Given the description of an element on the screen output the (x, y) to click on. 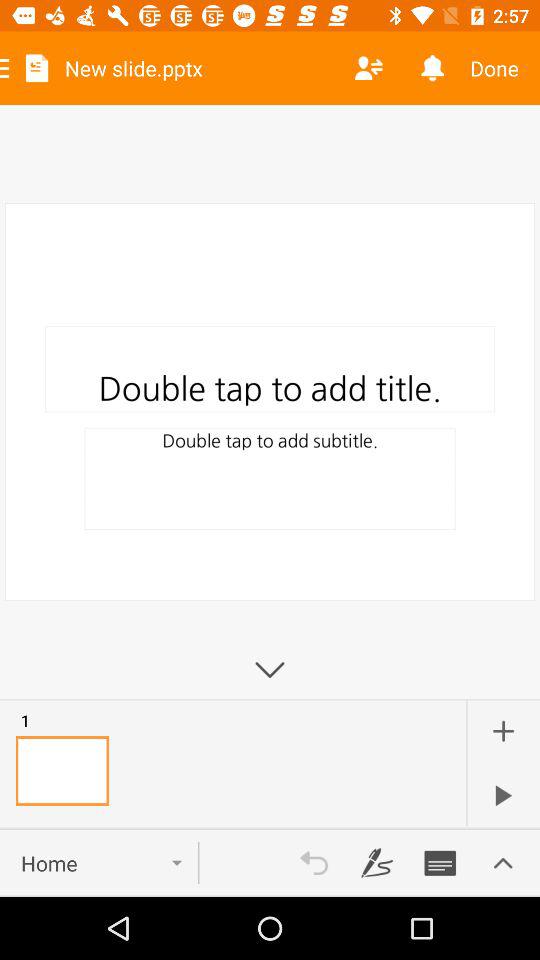
go to previous (314, 863)
